Given the description of an element on the screen output the (x, y) to click on. 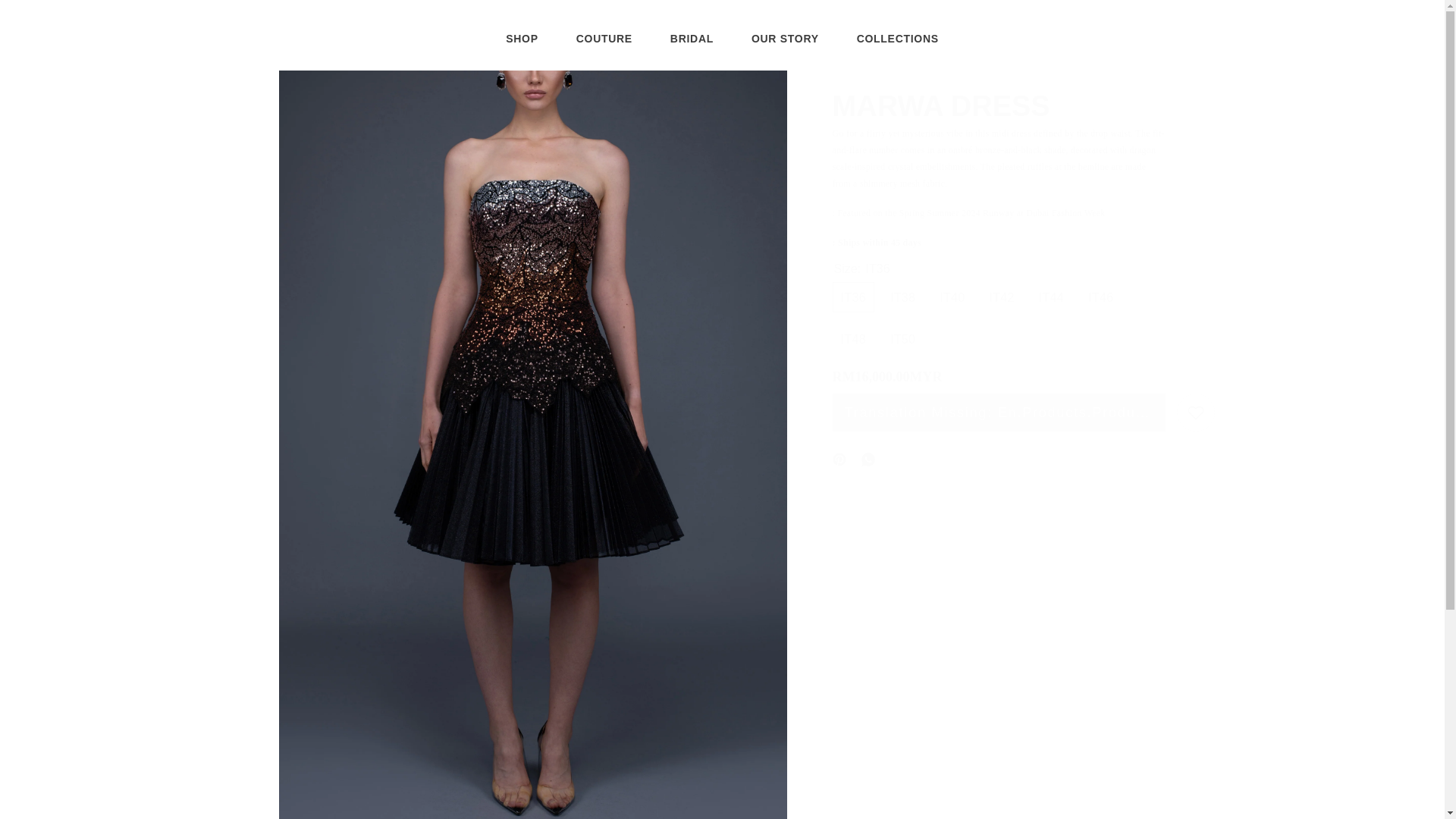
COLLECTIONS (897, 42)
BRIDAL (691, 42)
Pinterest (838, 458)
Add to wishlist (999, 310)
SHOP (1195, 412)
MARWA DRESS (520, 42)
OUR STORY (999, 110)
COUTURE (785, 42)
Add to wishlist (604, 42)
Whatsapp (1195, 412)
RM16,000.00MYR (868, 458)
